Given the description of an element on the screen output the (x, y) to click on. 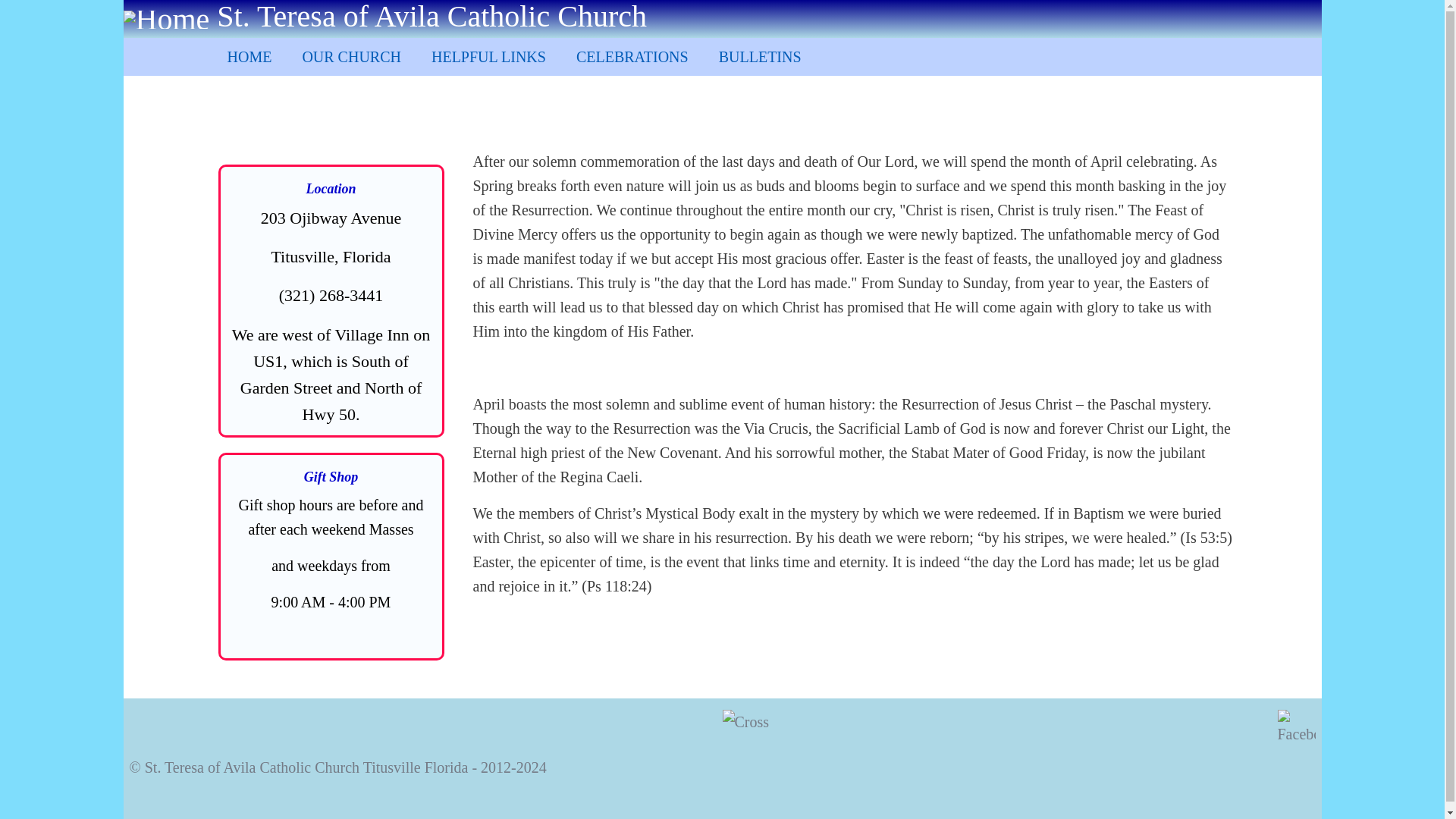
St. Teresa of Avila Catholic Church (431, 16)
OUR CHURCH (351, 56)
Home (169, 16)
HOME (249, 56)
HELPFUL LINKS (488, 56)
Home (431, 16)
